Given the description of an element on the screen output the (x, y) to click on. 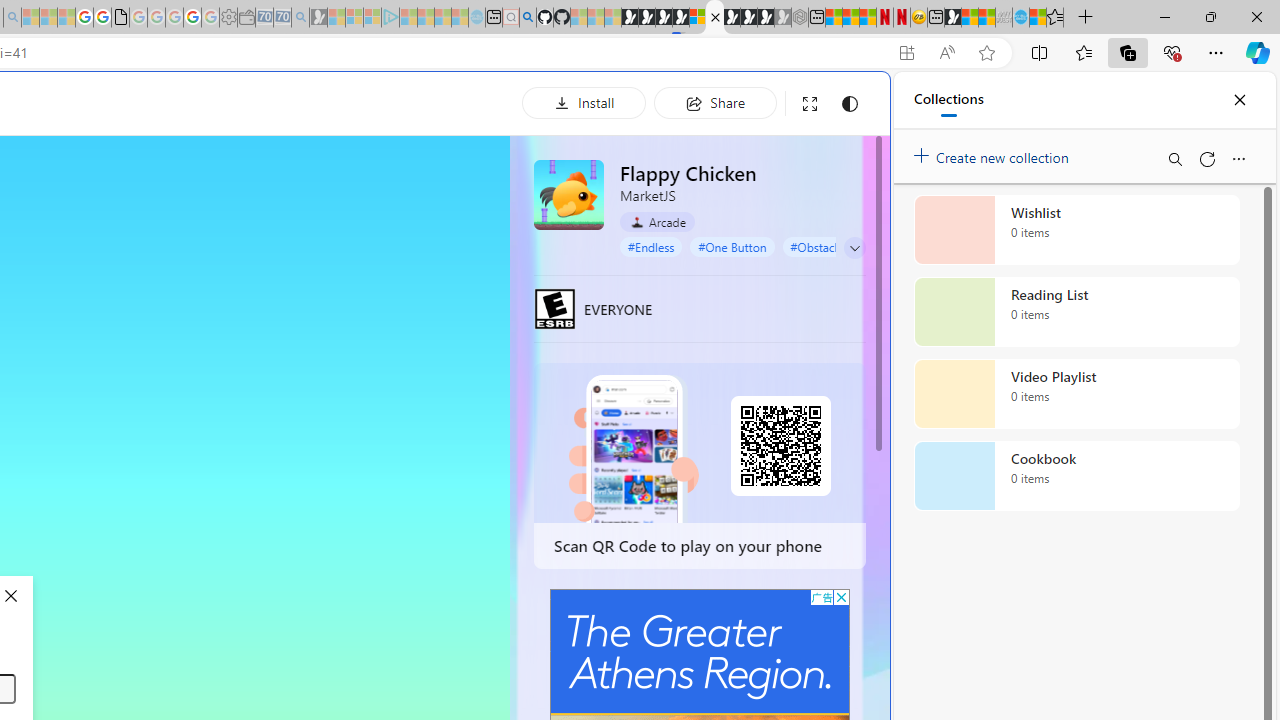
Tabs you've opened (276, 265)
Sign in to your account (697, 17)
AutomationID: cbb (841, 596)
Change to dark mode (849, 103)
Reading List collection, 0 items (1076, 312)
Arcade (657, 221)
